Given the description of an element on the screen output the (x, y) to click on. 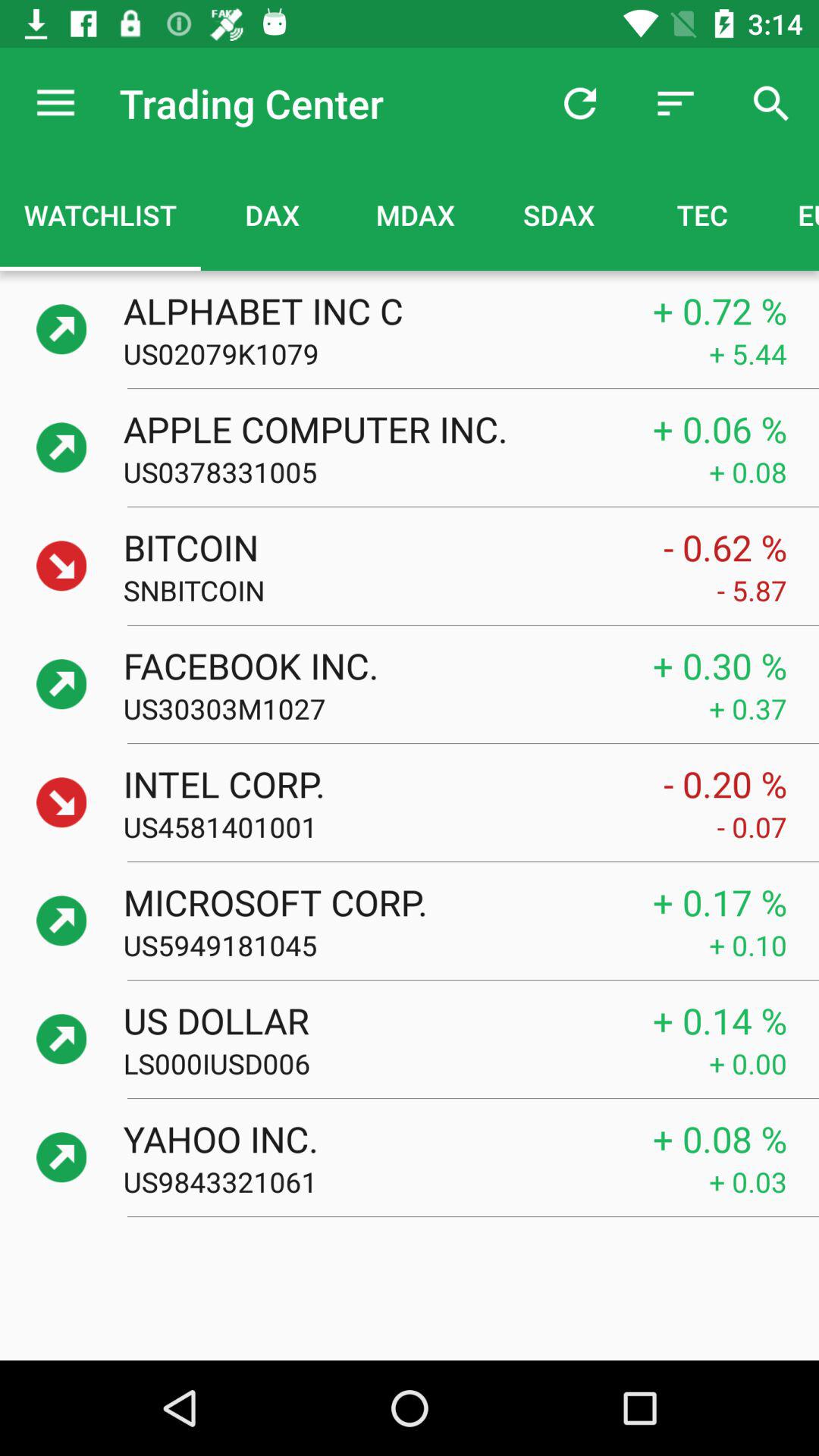
turn on icon above the watchlist icon (55, 103)
